Given the description of an element on the screen output the (x, y) to click on. 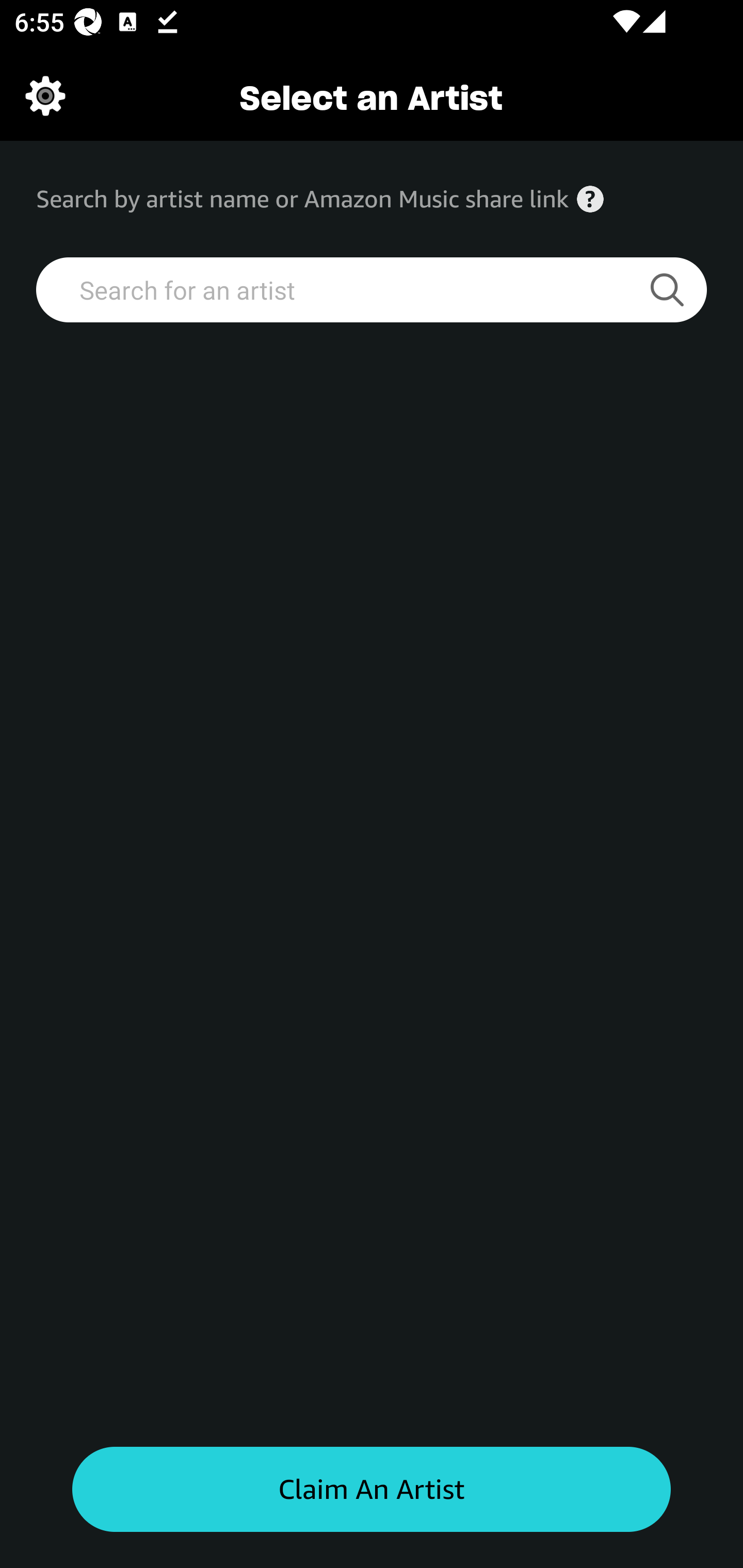
Help  icon (589, 199)
Claim an artist button Claim An Artist (371, 1489)
